Given the description of an element on the screen output the (x, y) to click on. 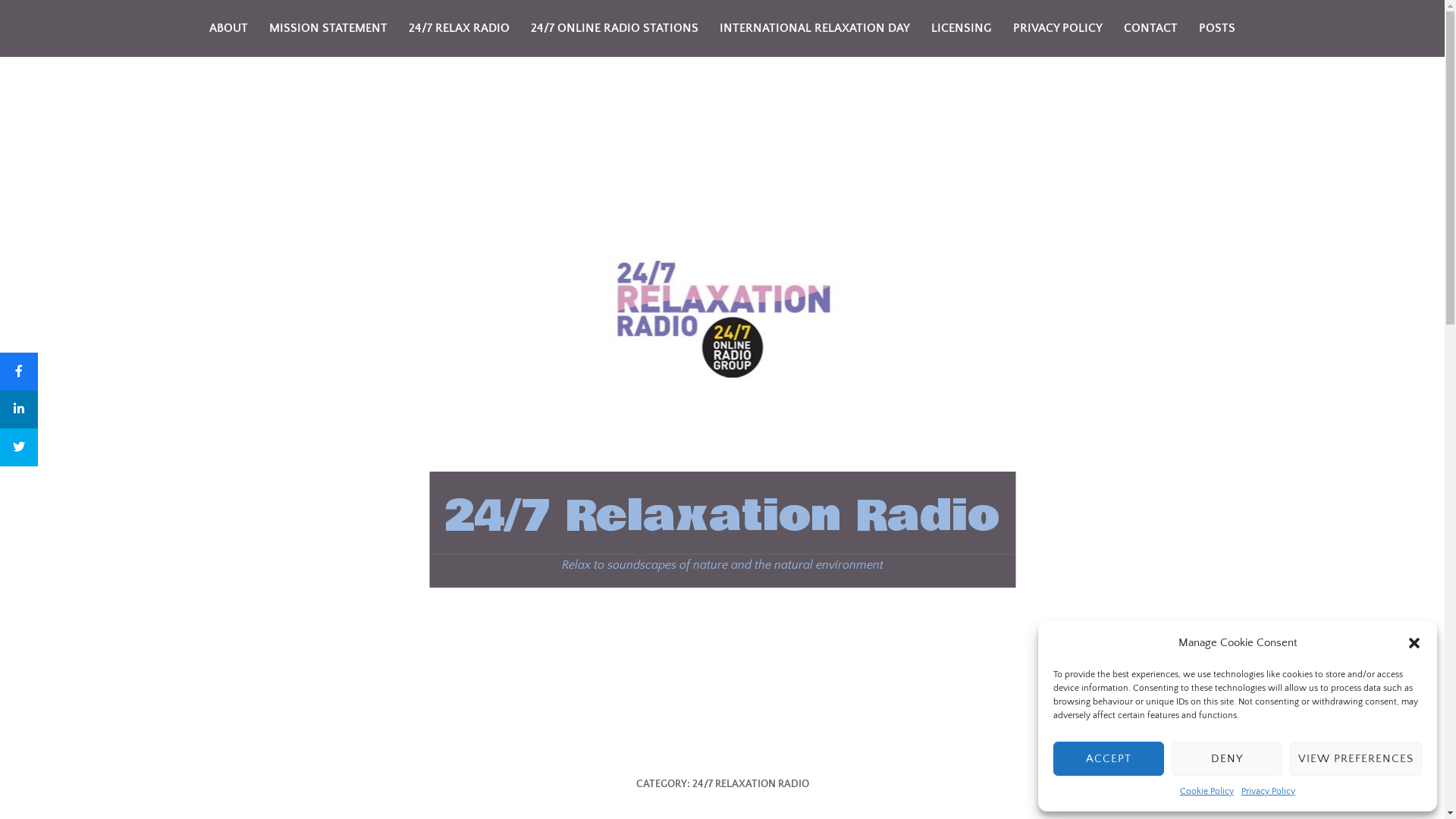
24/7 ONLINE RADIO STATIONS Element type: text (614, 28)
MISSION STATEMENT Element type: text (328, 28)
ACCEPT Element type: text (1108, 758)
POSTS Element type: text (1216, 28)
DENY Element type: text (1226, 758)
INTERNATIONAL RELAXATION DAY Element type: text (814, 28)
Cookie Policy Element type: text (1206, 791)
Privacy Policy Element type: text (1268, 791)
CONTACT Element type: text (1150, 28)
ABOUT Element type: text (228, 28)
24/7 RELAX RADIO Element type: text (458, 28)
24/7 Relaxation Radio Element type: text (722, 516)
PRIVACY POLICY Element type: text (1057, 28)
VIEW PREFERENCES Element type: text (1355, 758)
LICENSING Element type: text (961, 28)
